Given the description of an element on the screen output the (x, y) to click on. 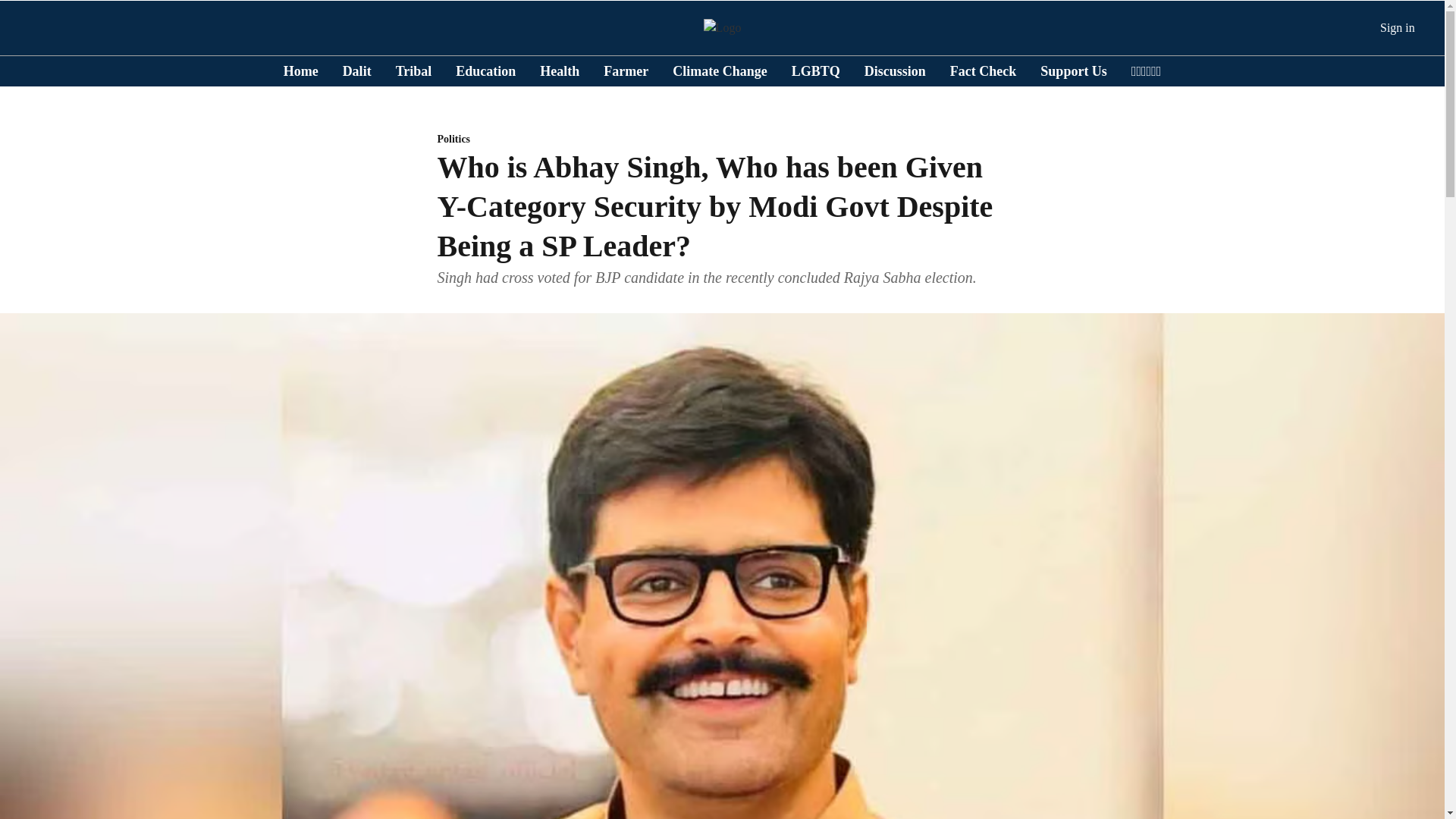
LGBTQ (816, 70)
Climate Change (719, 70)
Farmer (625, 70)
Politics (721, 139)
Support Us (1073, 70)
Health (559, 70)
Discussion (895, 70)
Dalit (356, 70)
Fact Check (983, 70)
Tribal (414, 70)
